Given the description of an element on the screen output the (x, y) to click on. 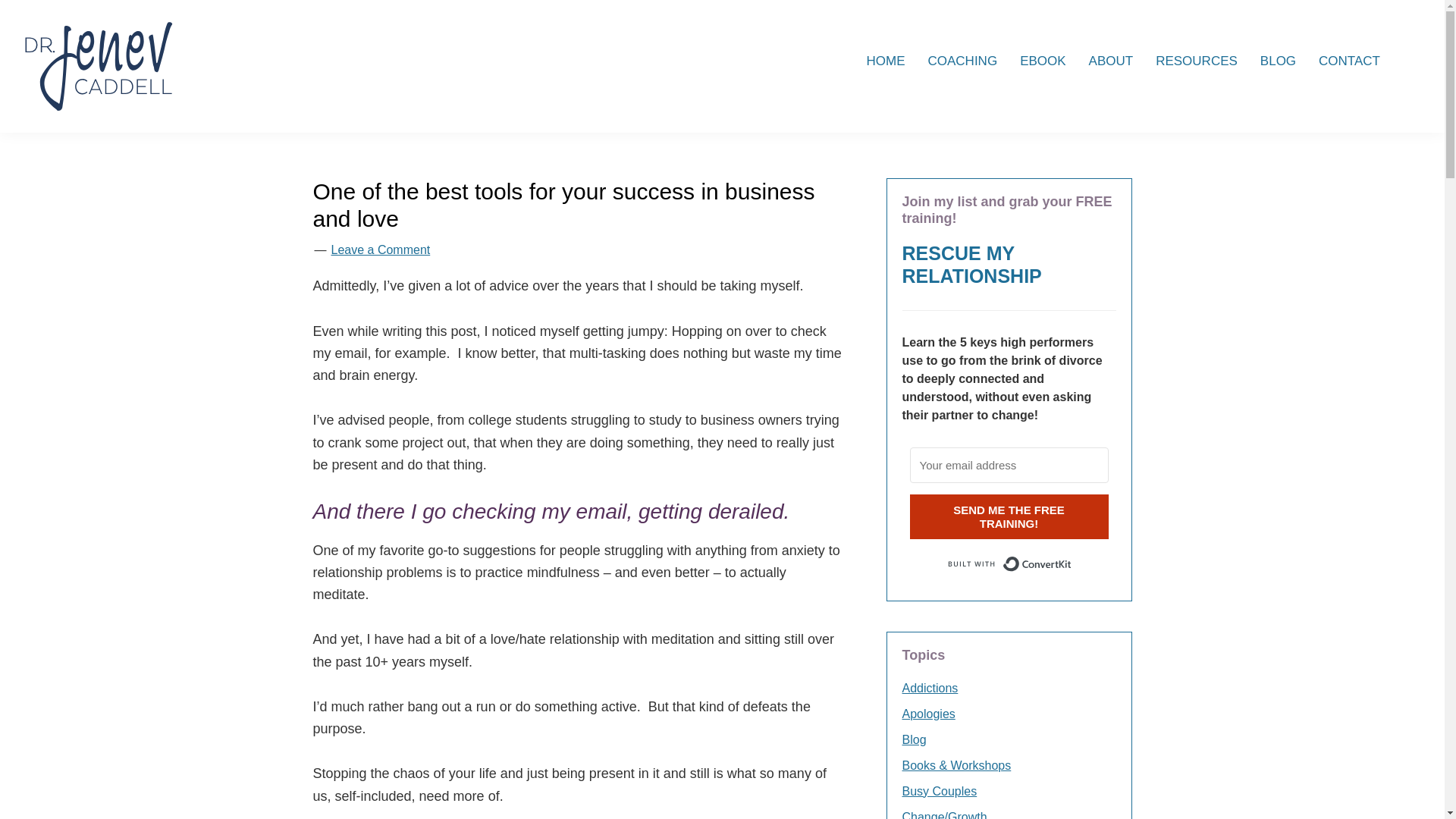
BLOG (1278, 60)
RESOURCES (1196, 60)
Leave a Comment (379, 249)
Addictions (930, 687)
HOME (886, 60)
Busy Couples (939, 790)
SEND ME THE FREE TRAINING! (1009, 516)
CONTACT (1349, 60)
Blog (914, 739)
Built with ConvertKit (1008, 564)
COACHING (962, 60)
Apologies (928, 713)
ABOUT (1110, 60)
EBOOK (1043, 60)
